Given the description of an element on the screen output the (x, y) to click on. 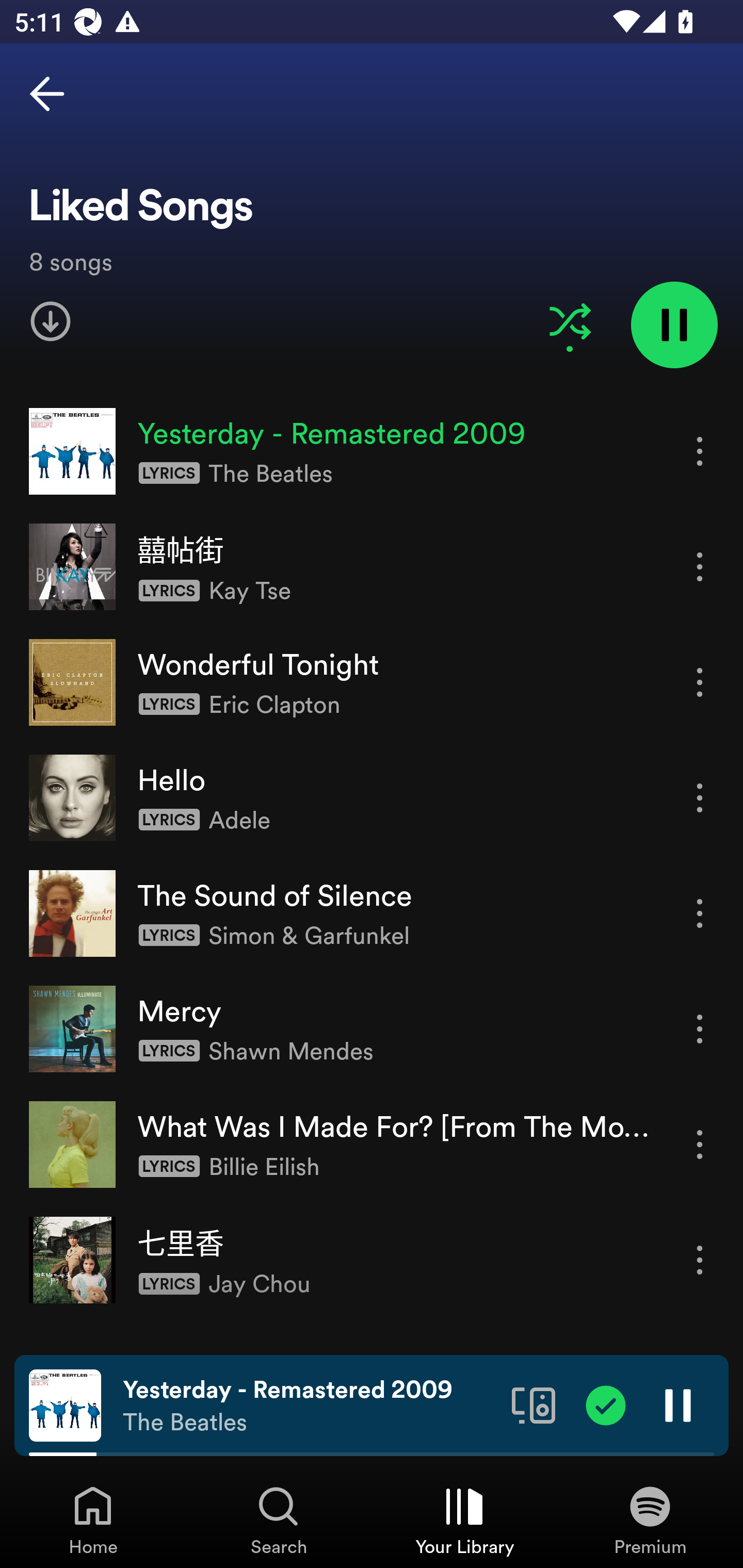
Back (46, 93)
Download (50, 321)
Disable shuffle for this liked songs (569, 321)
Pause liked songs (674, 324)
More options for song Yesterday - Remastered 2009 (699, 450)
囍帖街 More options for song 囍帖街 Lyrics Kay Tse (371, 566)
More options for song 囍帖街 (699, 566)
More options for song Wonderful Tonight (699, 682)
Hello More options for song Hello Lyrics Adele (371, 798)
More options for song Hello (699, 798)
More options for song The Sound of Silence (699, 913)
More options for song Mercy (699, 1029)
七里香 More options for song 七里香 Lyrics Jay Chou (371, 1259)
More options for song 七里香 (699, 1259)
Yesterday - Remastered 2009 The Beatles (309, 1405)
The cover art of the currently playing track (64, 1404)
Connect to a device. Opens the devices menu (533, 1404)
Item added (605, 1404)
Pause (677, 1404)
Home, Tab 1 of 4 Home Home (92, 1519)
Search, Tab 2 of 4 Search Search (278, 1519)
Your Library, Tab 3 of 4 Your Library Your Library (464, 1519)
Premium, Tab 4 of 4 Premium Premium (650, 1519)
